Given the description of an element on the screen output the (x, y) to click on. 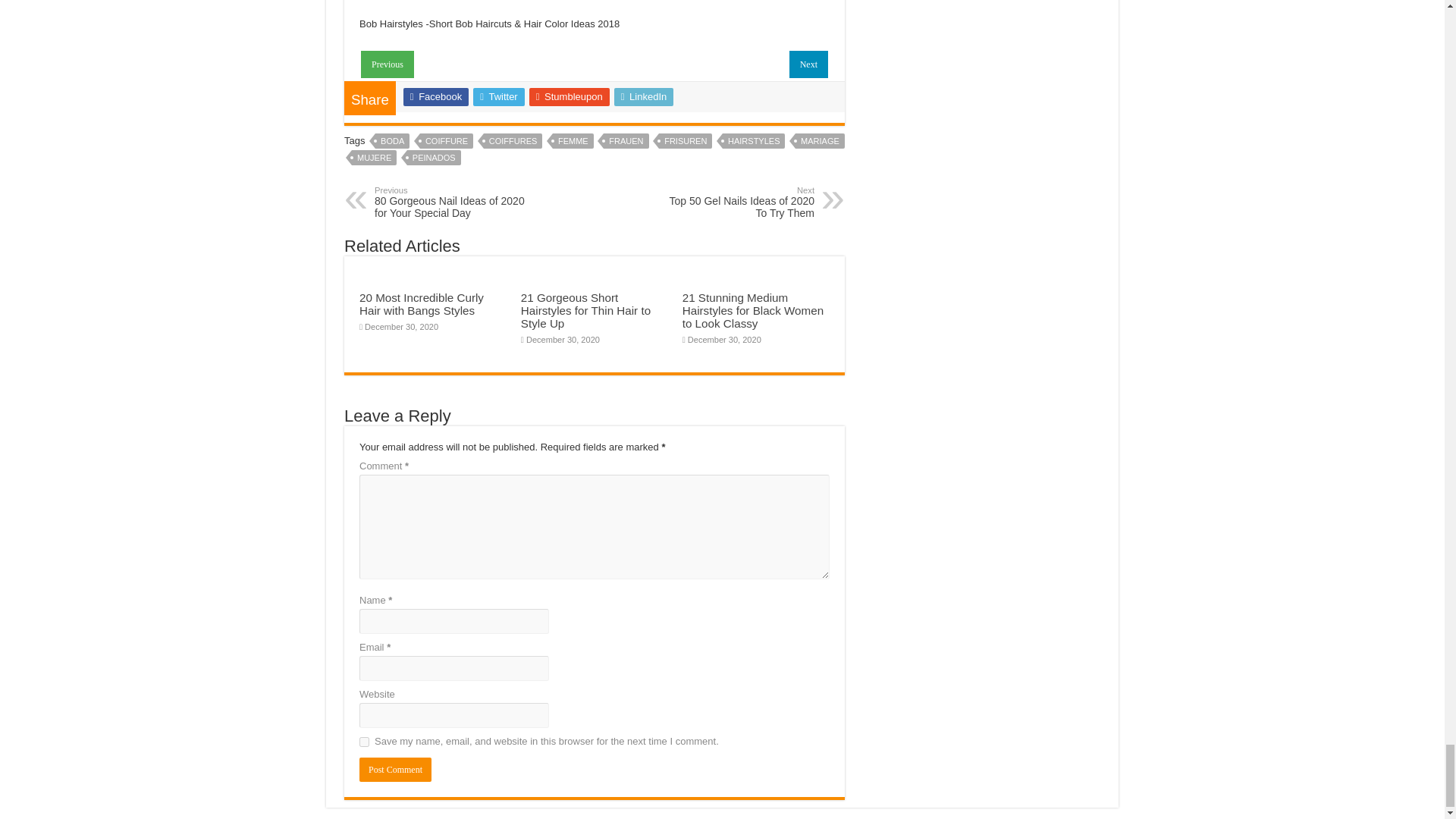
FRAUEN (625, 140)
Post Comment (451, 202)
35 COOL RAINBOW HAIR COLOR IDEAS FOR FESTIVAL GOERS (394, 769)
Previous (386, 62)
MUJERE (387, 63)
Facebook (374, 157)
PEINADOS (435, 96)
Next (434, 157)
Twitter (808, 63)
COIFFURES (498, 96)
COIFFURE (513, 140)
FRISUREN (446, 140)
HAIRSTYLES (736, 202)
